Given the description of an element on the screen output the (x, y) to click on. 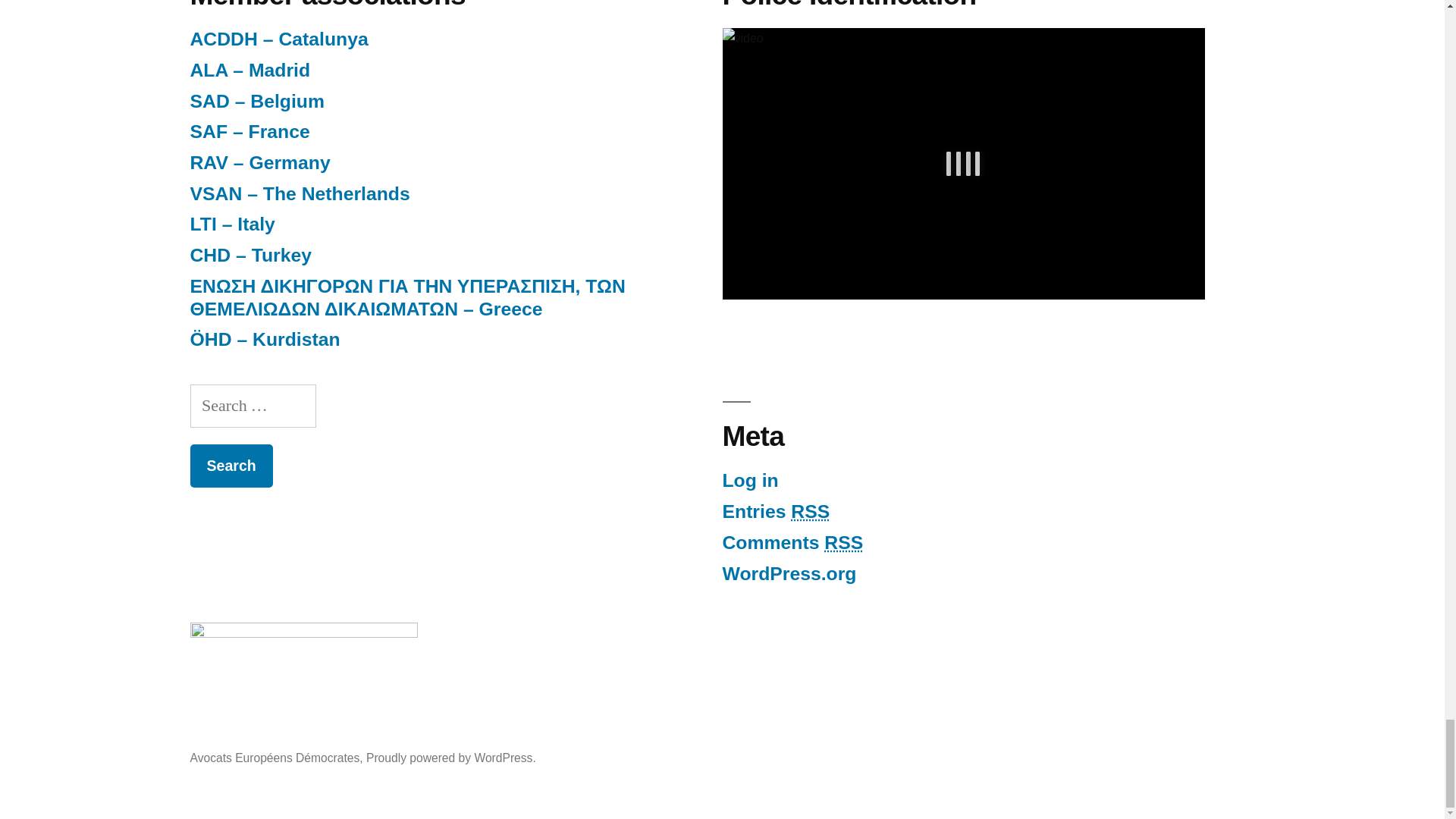
Search (230, 465)
Really Simple Syndication (843, 542)
Really Simple Syndication (809, 511)
Search (230, 465)
